Given the description of an element on the screen output the (x, y) to click on. 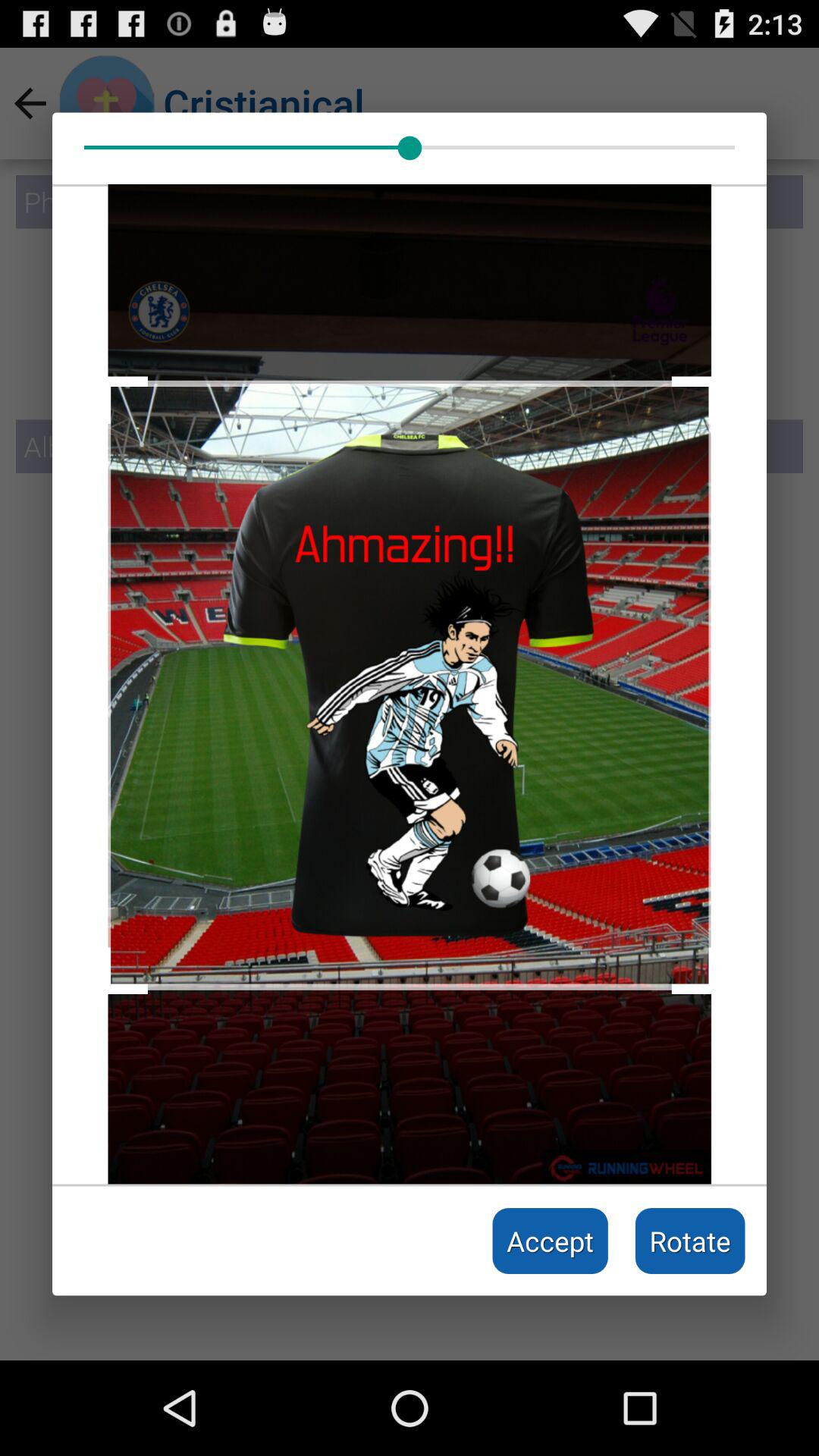
flip to accept item (549, 1240)
